Given the description of an element on the screen output the (x, y) to click on. 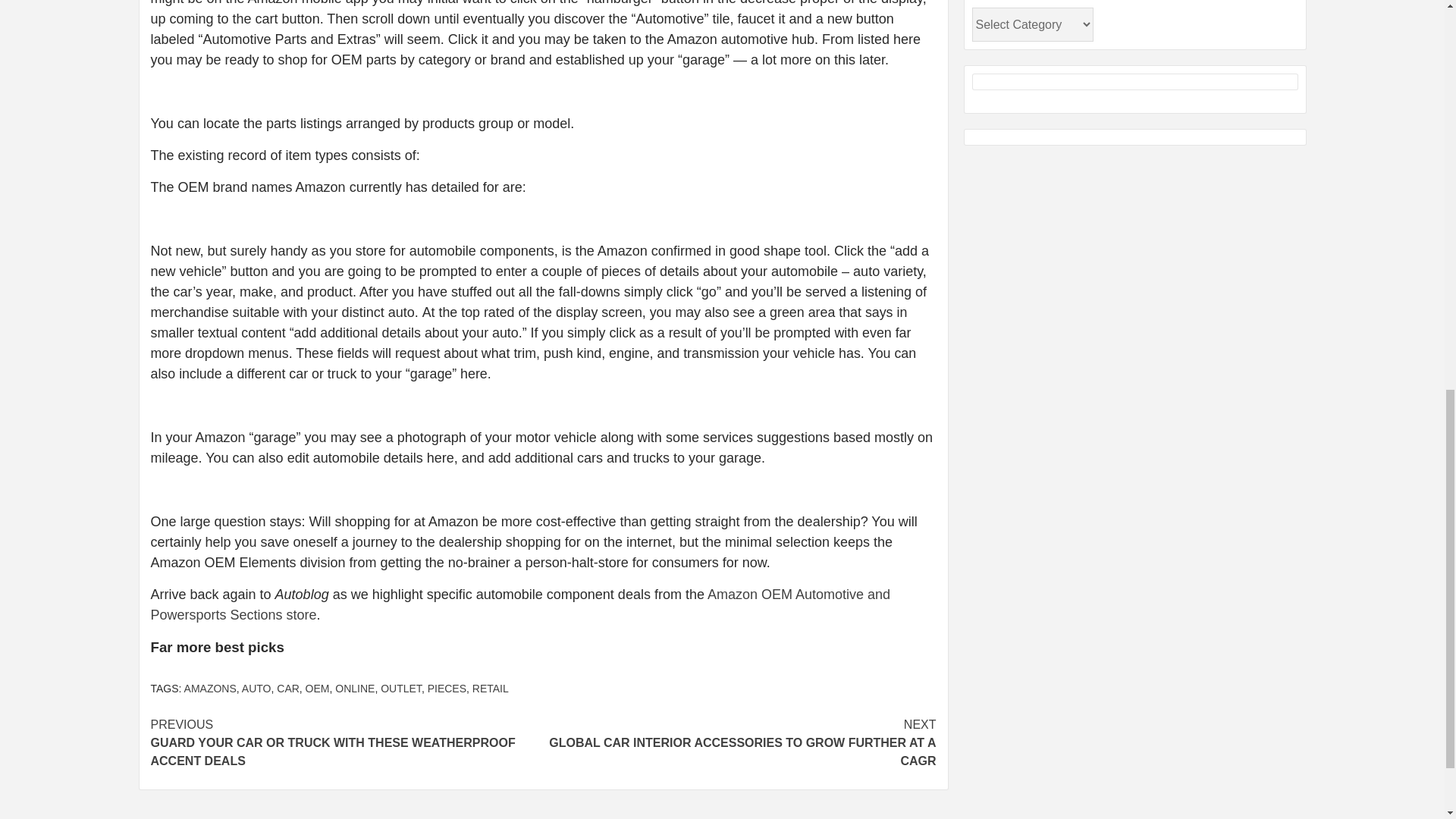
AMAZONS (209, 688)
AUTO (255, 688)
RETAIL (489, 688)
OUTLET (401, 688)
CAR (287, 688)
ONLINE (354, 688)
PIECES (446, 688)
OEM (317, 688)
